Given the description of an element on the screen output the (x, y) to click on. 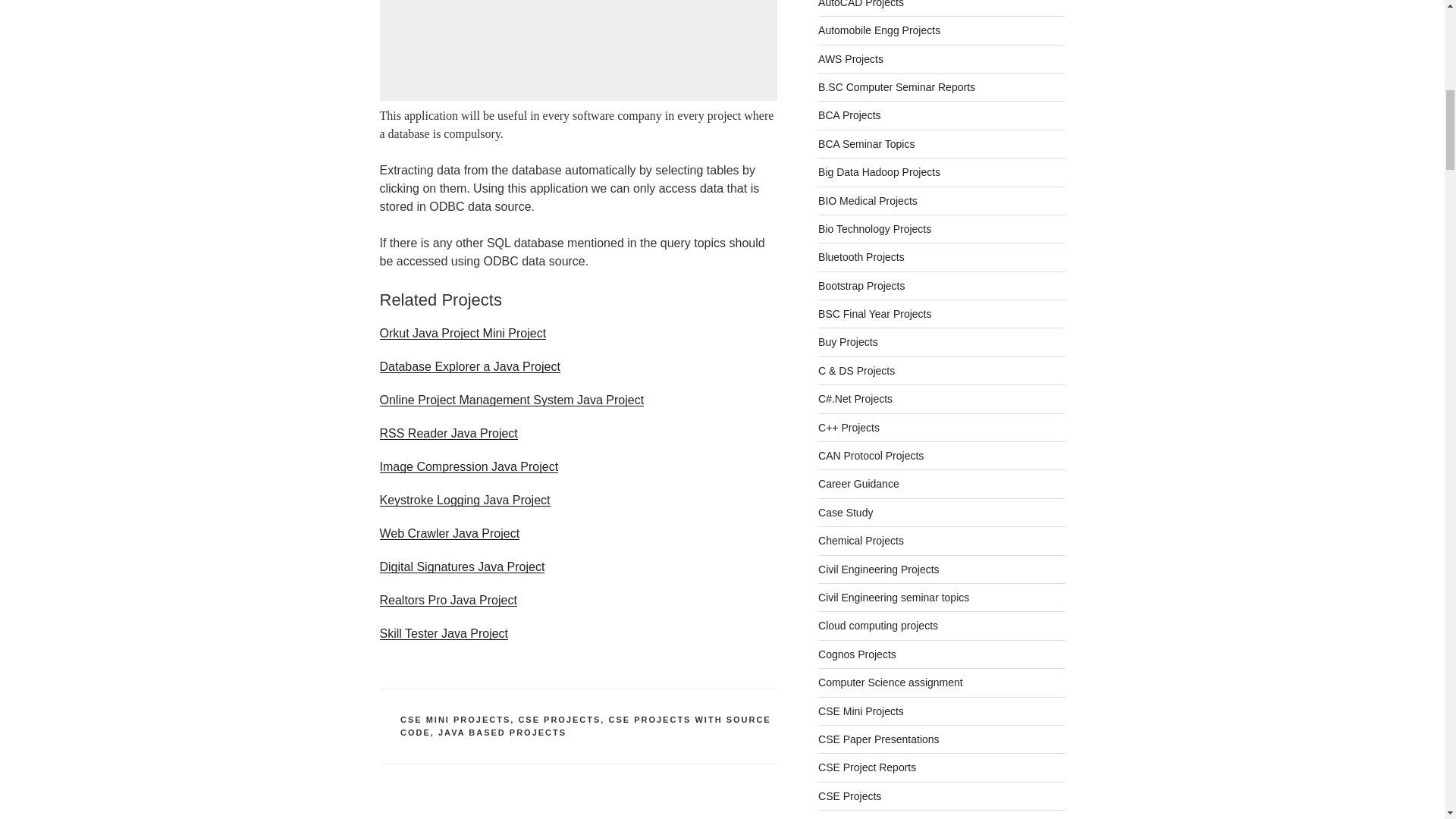
Skill Tester Java Project (443, 633)
RSS Reader Java Project (447, 432)
CSE MINI PROJECTS (455, 718)
Digital Signatures Java Project (461, 566)
Realtors Pro Java Project (447, 599)
Web Crawler Java Project (448, 533)
Online Project Management System Java Project (510, 399)
CSE PROJECTS (558, 718)
JAVA BASED PROJECTS (502, 732)
Image Compression Java Project (467, 466)
